Given the description of an element on the screen output the (x, y) to click on. 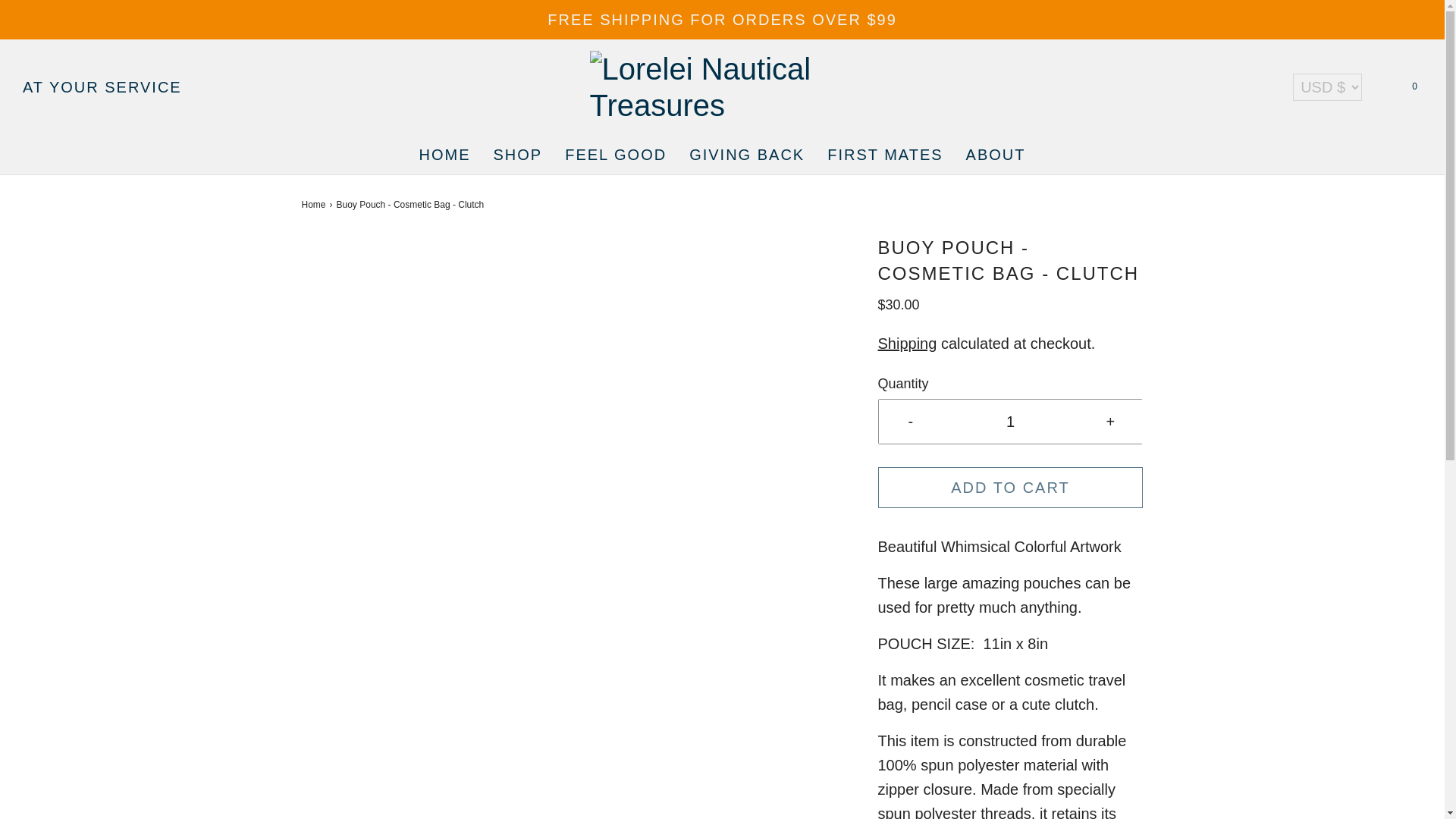
AT YOUR SERVICE (102, 87)
1 (1010, 421)
Back to the frontpage (315, 205)
Cart (1413, 86)
